Given the description of an element on the screen output the (x, y) to click on. 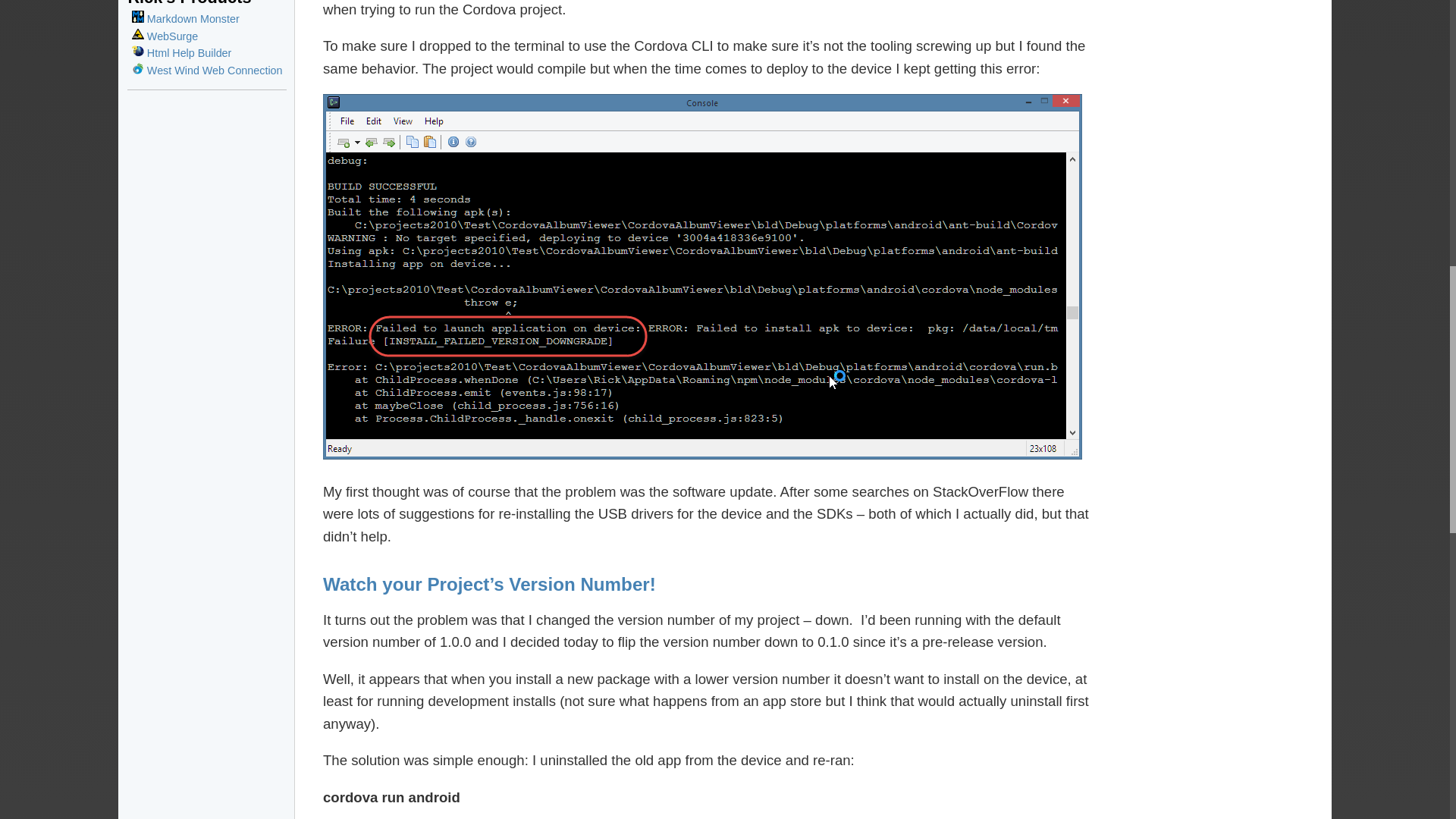
West Wind Web Connection (207, 70)
Markdown Monster (186, 19)
WebSurge (165, 36)
Html Help Builder (181, 52)
West Wind WebSurge: Http Request and Load Testing on Windows (165, 36)
Markdown Monster - a powerful Markdown Editor for Windows (186, 19)
